Given the description of an element on the screen output the (x, y) to click on. 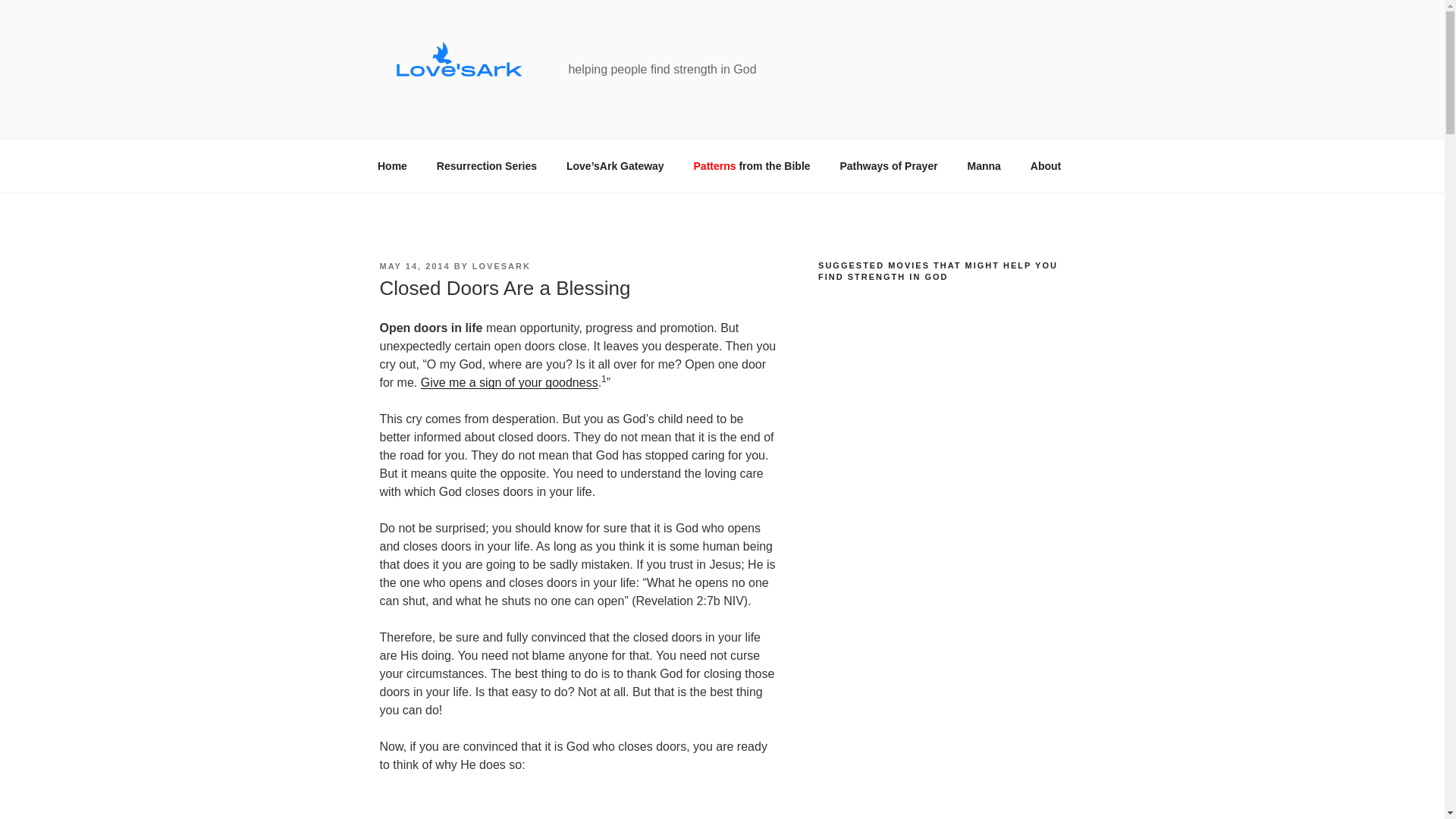
YouTube video player (931, 357)
Resurrection Series (486, 165)
YouTube video player (931, 785)
Give me a sign of your goodness (509, 382)
About (1045, 165)
YouTube video player (931, 507)
Patterns from the Bible (751, 165)
Manna (983, 165)
Pathways of Prayer (888, 165)
